Given the description of an element on the screen output the (x, y) to click on. 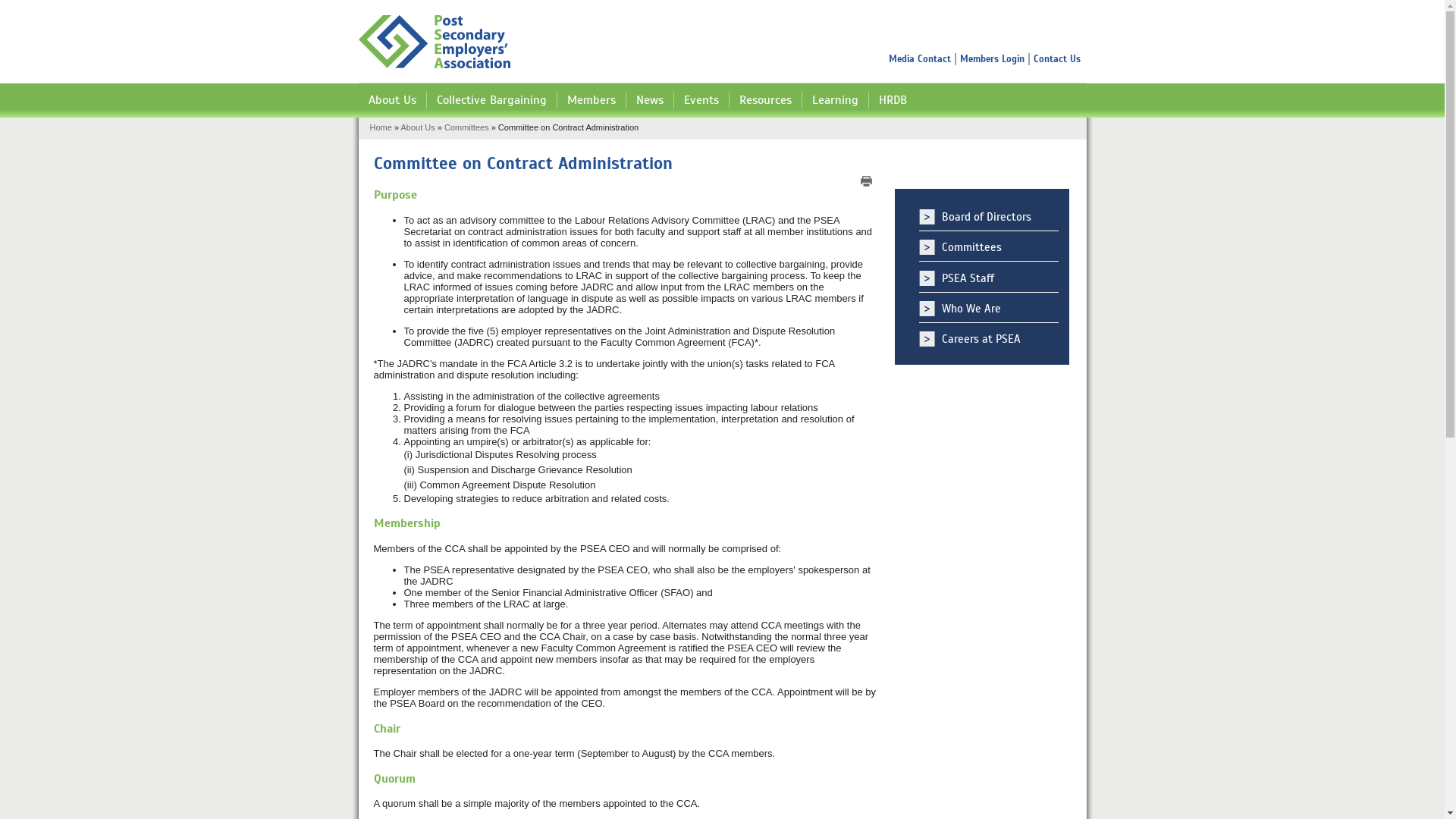
Board of Directors Element type: text (988, 217)
About Us Element type: text (417, 126)
Home Element type: hover (433, 43)
PSEA Staff Element type: text (988, 278)
Committees Element type: text (988, 247)
Collective Bargaining Element type: text (491, 99)
Home Element type: text (381, 126)
Careers at PSEA Element type: text (988, 338)
About Us Element type: text (391, 99)
Who We Are Element type: text (988, 308)
Events Element type: text (700, 99)
Skip to main content Element type: text (50, 0)
Media Contact Element type: text (922, 59)
Contact Us Element type: text (1055, 59)
Members Element type: text (590, 99)
HRDB Element type: text (892, 99)
Members Login Element type: text (994, 59)
News Element type: text (650, 99)
Learning Element type: text (835, 99)
Committees Element type: text (466, 126)
Resources Element type: text (765, 99)
